Given the description of an element on the screen output the (x, y) to click on. 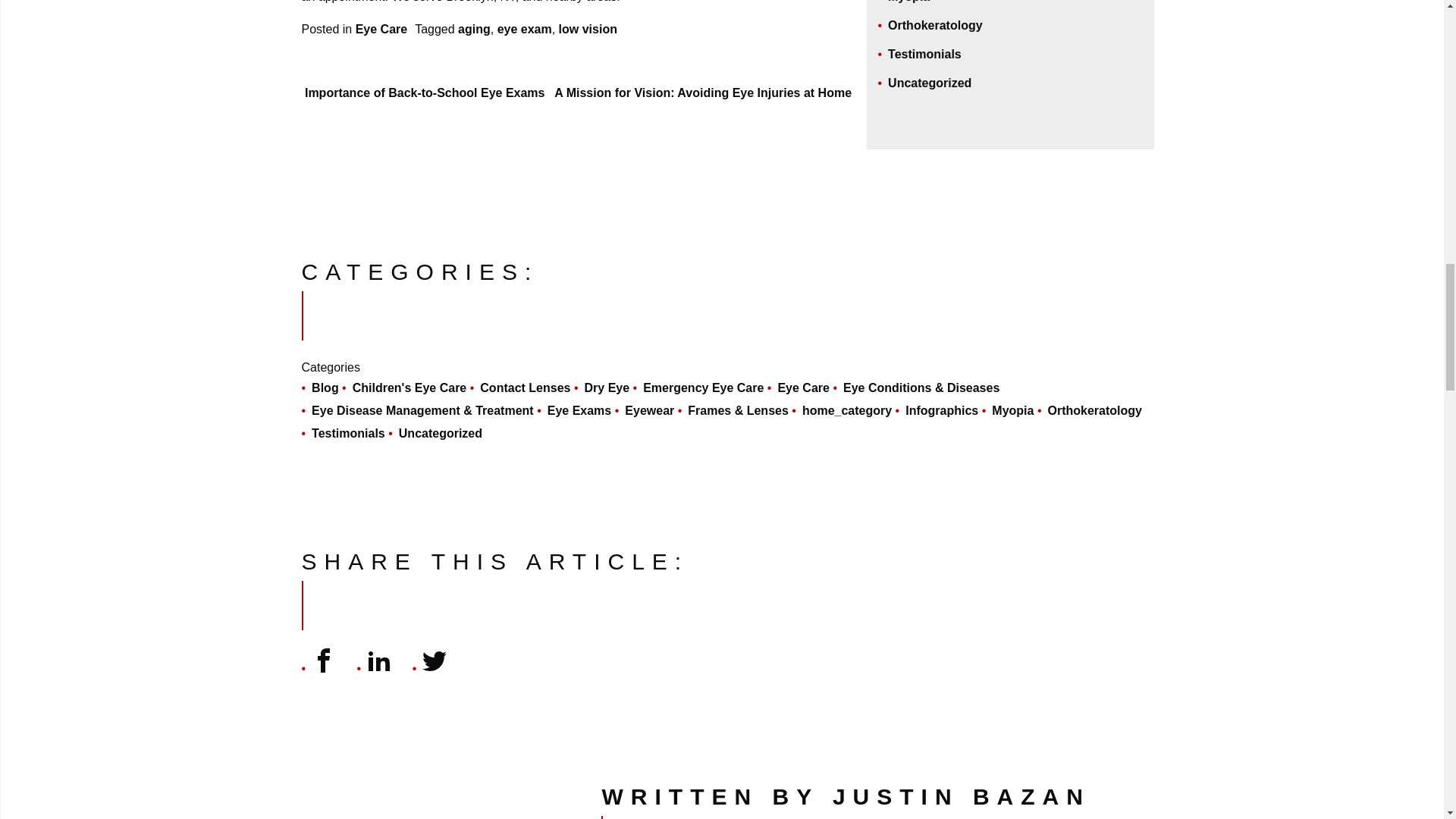
eye exam (524, 29)
Eye Care (381, 29)
aging (474, 29)
